Given the description of an element on the screen output the (x, y) to click on. 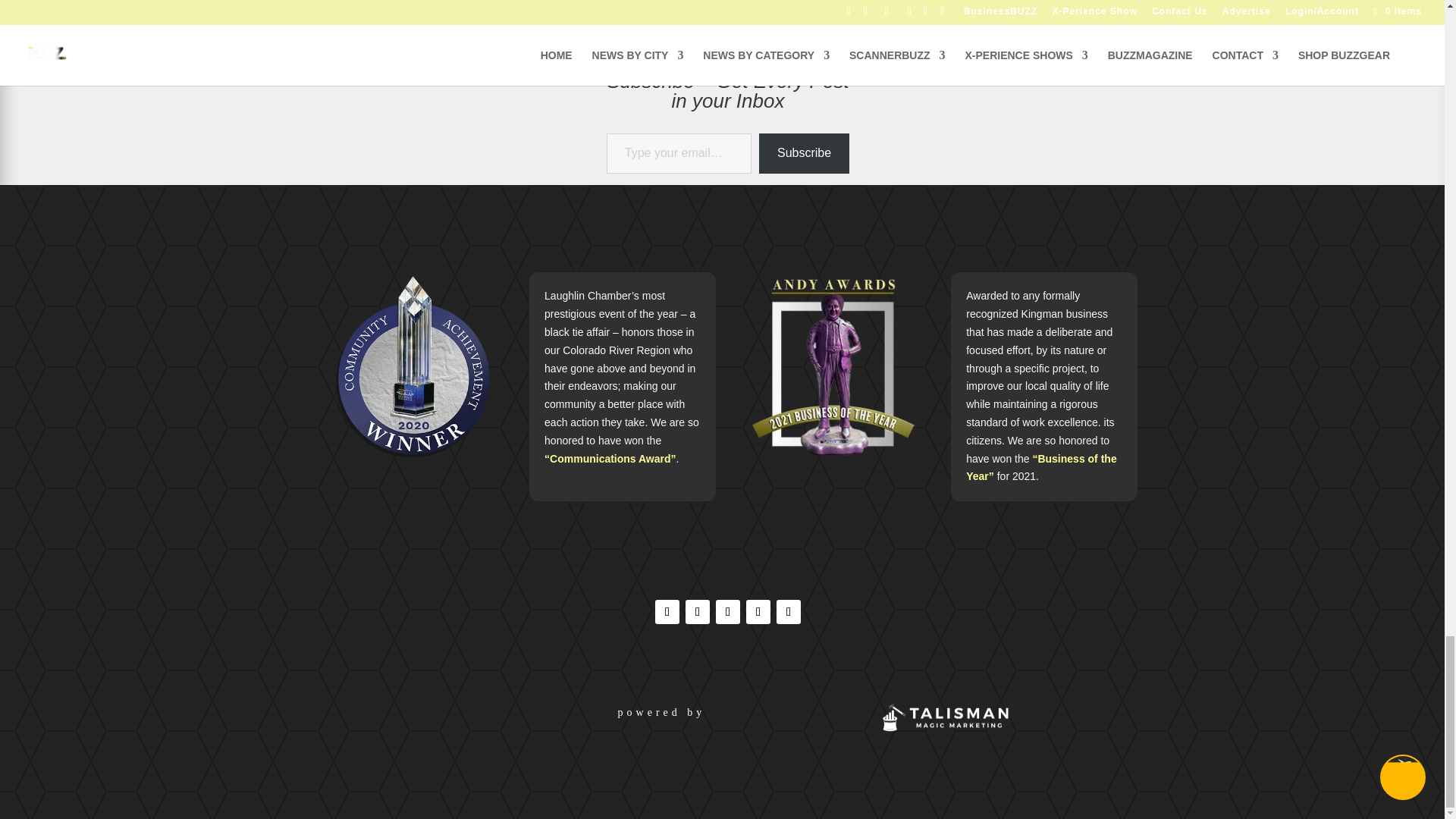
Follow on Facebook (667, 611)
Please fill in this field. (679, 153)
Talisman Consulting - Magic Marketing copy- Horizontal (943, 717)
Communtiy acheivement Award 400x (411, 364)
Follow on X (757, 611)
Follow on Youtube (788, 611)
Follow on Instagram (697, 611)
2021 Andy Awards - Business of the Year 2 copy (832, 365)
Follow on TikTok (727, 611)
